Given the description of an element on the screen output the (x, y) to click on. 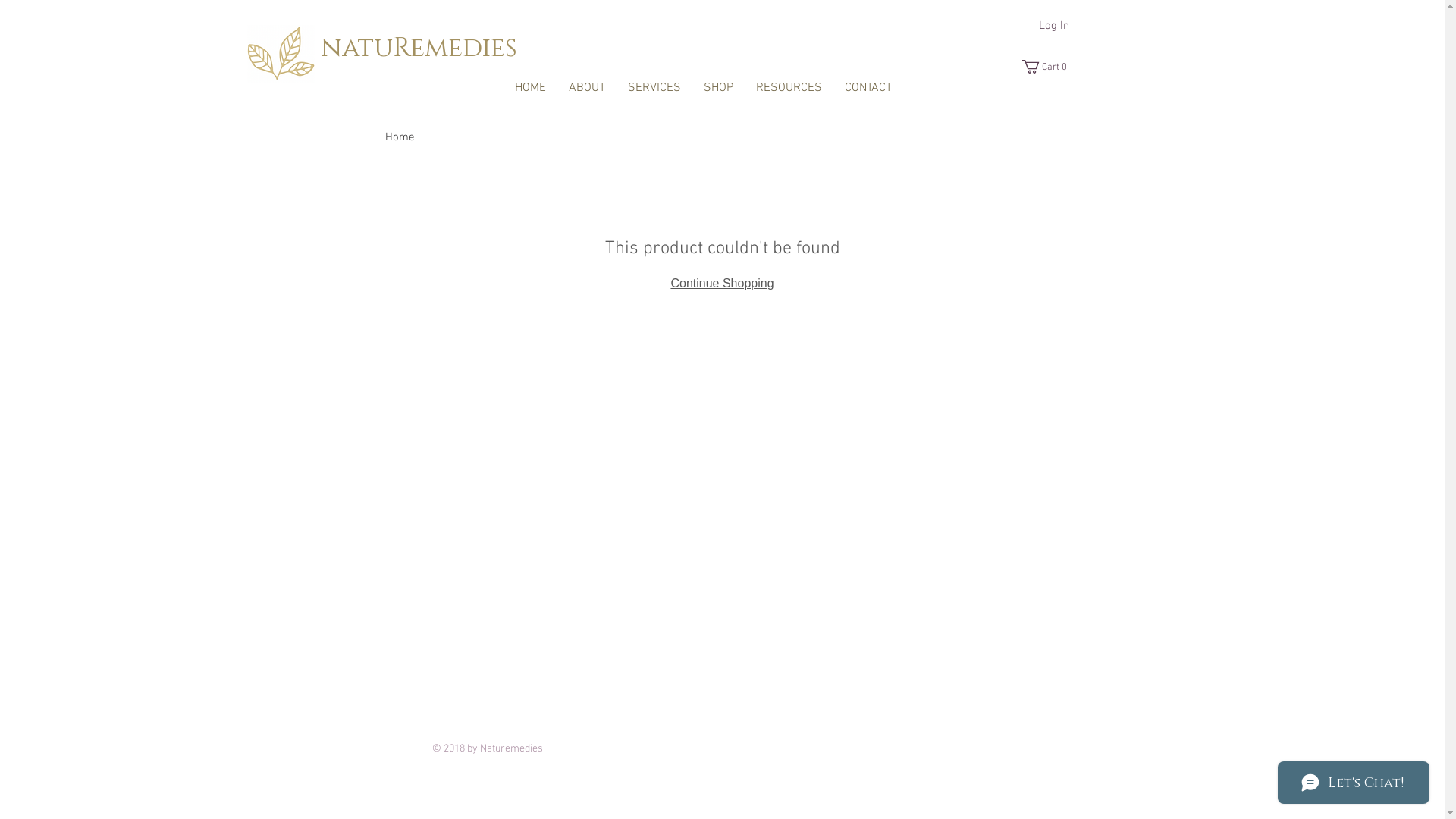
RESOURCES Element type: text (788, 87)
HOME Element type: text (530, 87)
Cart
0 Element type: text (1047, 66)
SERVICES Element type: text (653, 87)
ABOUT Element type: text (585, 87)
CONTACT Element type: text (867, 87)
Log In Element type: text (1053, 25)
Home Element type: text (399, 137)
natuRemedies Element type: text (418, 47)
Continue Shopping Element type: text (721, 282)
